Given the description of an element on the screen output the (x, y) to click on. 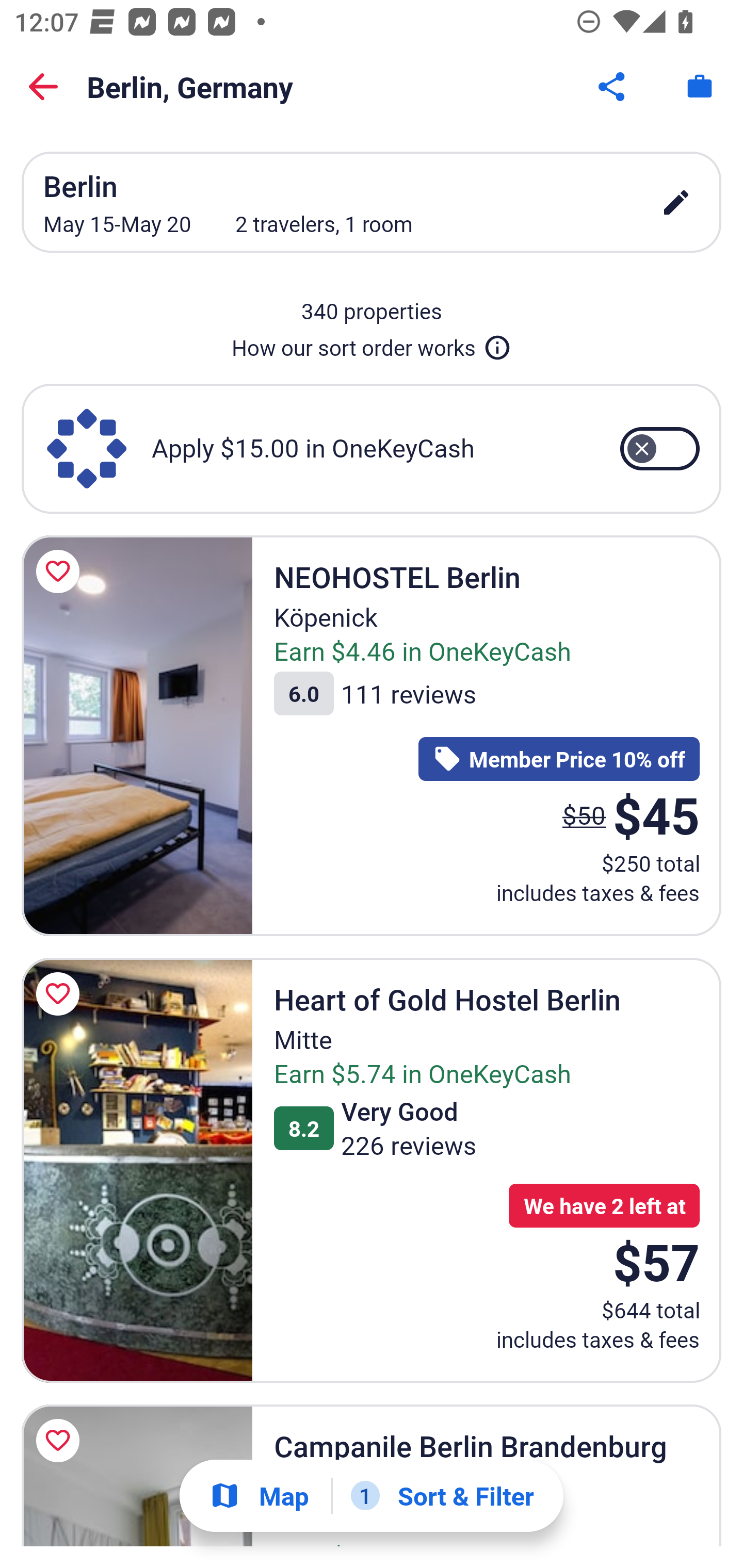
Back (43, 86)
Share Button (612, 86)
Trips. Button (699, 86)
Berlin May 15-May 20 2 travelers, 1 room edit (371, 202)
How our sort order works (371, 344)
Save NEOHOSTEL Berlin to a trip (61, 571)
NEOHOSTEL Berlin (136, 735)
$50 The price was $50 (583, 814)
Save Heart of Gold Hostel Berlin to a trip (61, 994)
Heart of Gold Hostel Berlin (136, 1170)
1 Sort & Filter 1 Filter applied. Filters Button (442, 1495)
Show map Map Show map Button (258, 1495)
